Given the description of an element on the screen output the (x, y) to click on. 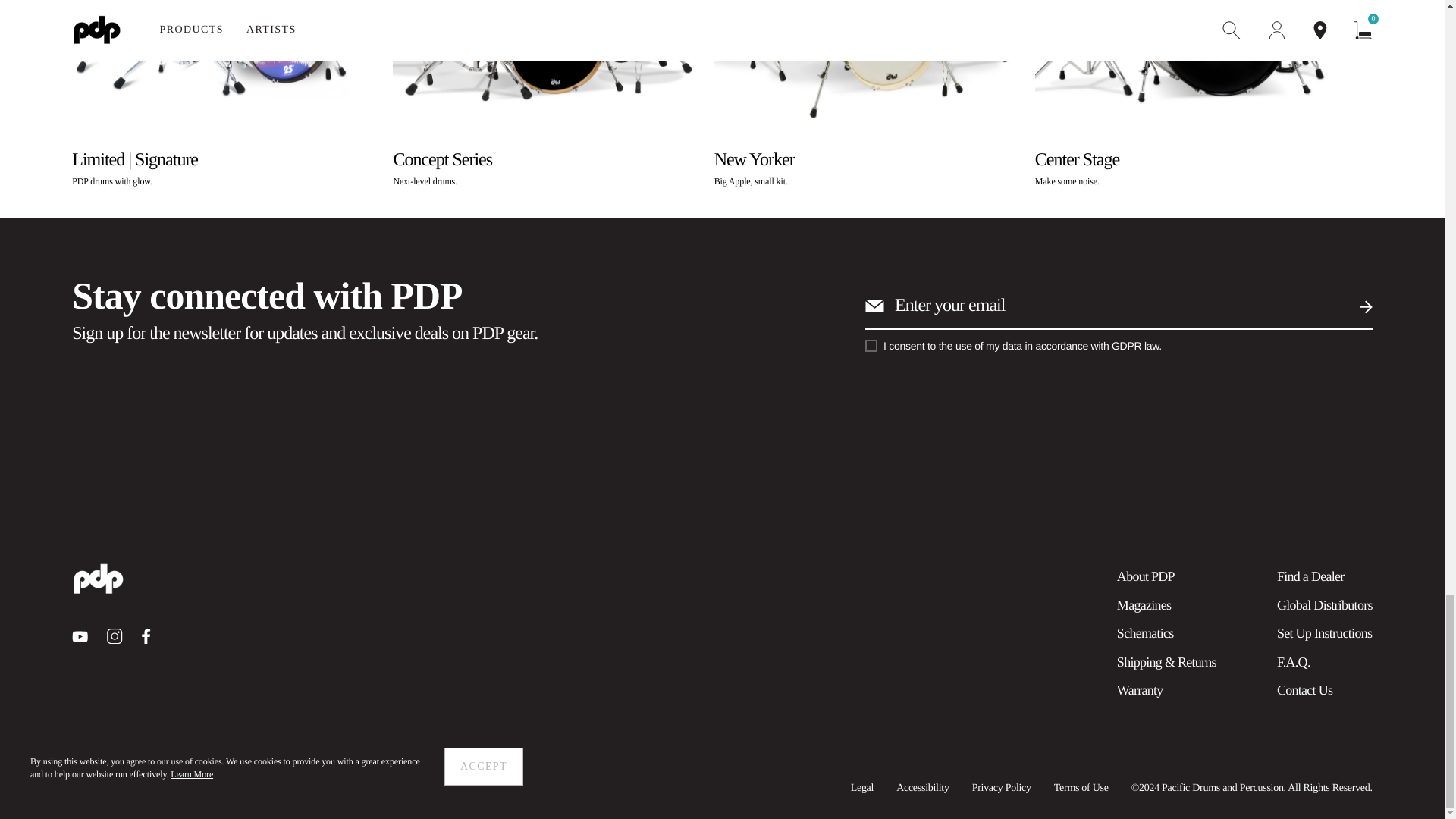
SUBMIT EMAIL (114, 635)
Youtube (1353, 306)
Instagram (79, 636)
About PDP (114, 636)
